Given the description of an element on the screen output the (x, y) to click on. 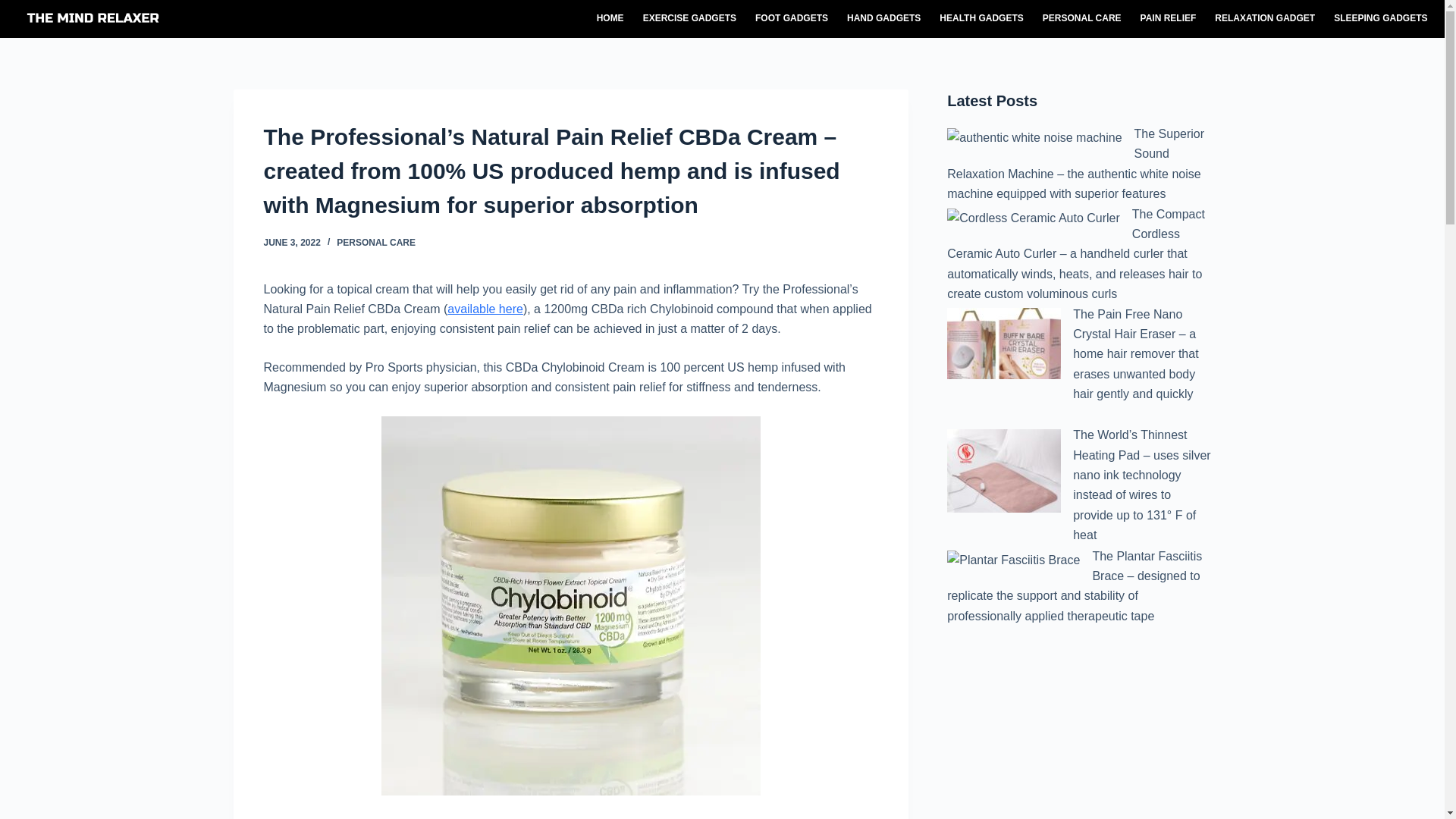
PERSONAL CARE (1081, 18)
Exercise Gadgets (689, 18)
available here (484, 308)
Contact The Mind Relaxer (1339, 772)
HAND GADGETS (883, 18)
Privacy Policy The Mind Relaxer (1407, 772)
Hand Gadgets (883, 18)
The Mind Relaxer (1210, 772)
Pain Relief (1168, 18)
Relaxation Gadget (1264, 18)
